Given the description of an element on the screen output the (x, y) to click on. 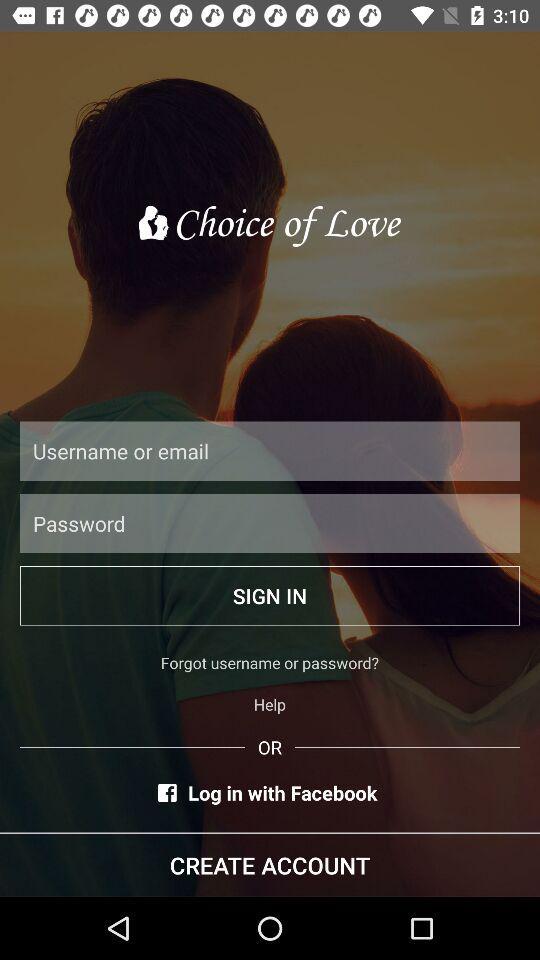
text box (269, 450)
